Given the description of an element on the screen output the (x, y) to click on. 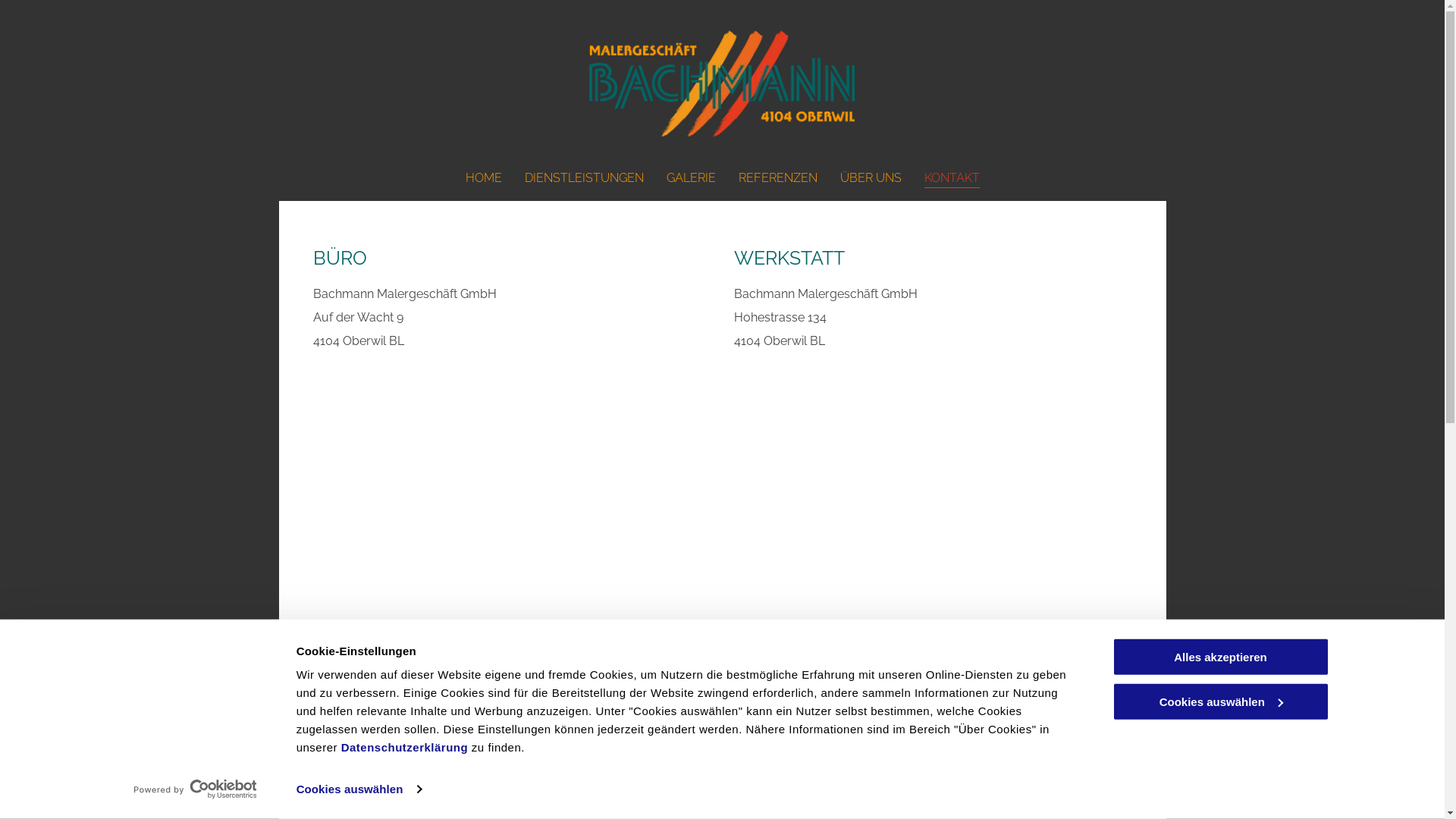
DIENSTLEISTUNGEN Element type: text (583, 177)
HOME Element type: text (483, 177)
GALERIE Element type: text (690, 177)
Alles akzeptieren Element type: text (1219, 656)
REFERENZEN Element type: text (777, 177)
KONTAKT Element type: text (951, 177)
